Given the description of an element on the screen output the (x, y) to click on. 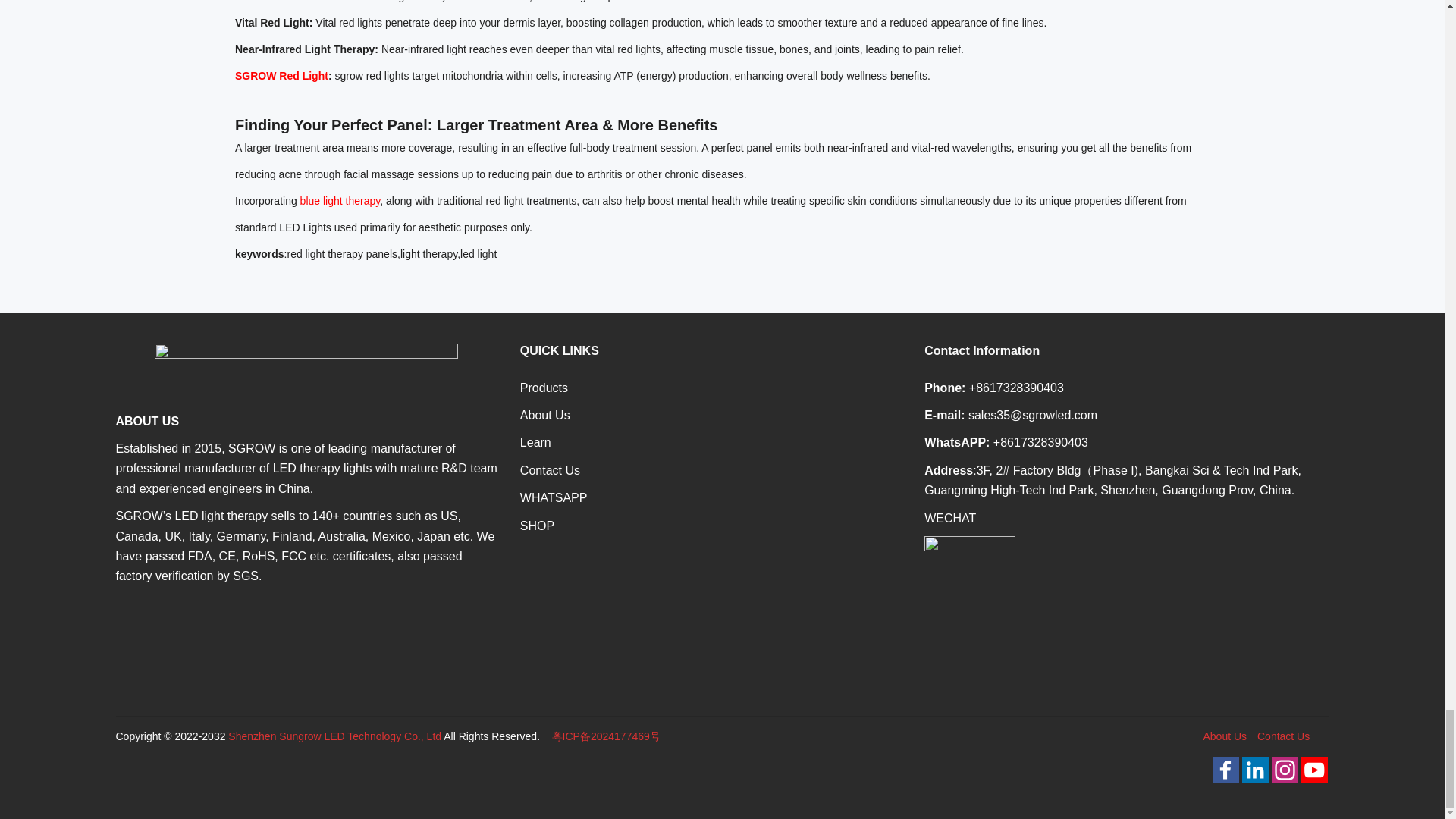
YouTube (1314, 779)
LinkedIn (1254, 779)
Facebook (1224, 779)
Instagram (1283, 779)
